Given the description of an element on the screen output the (x, y) to click on. 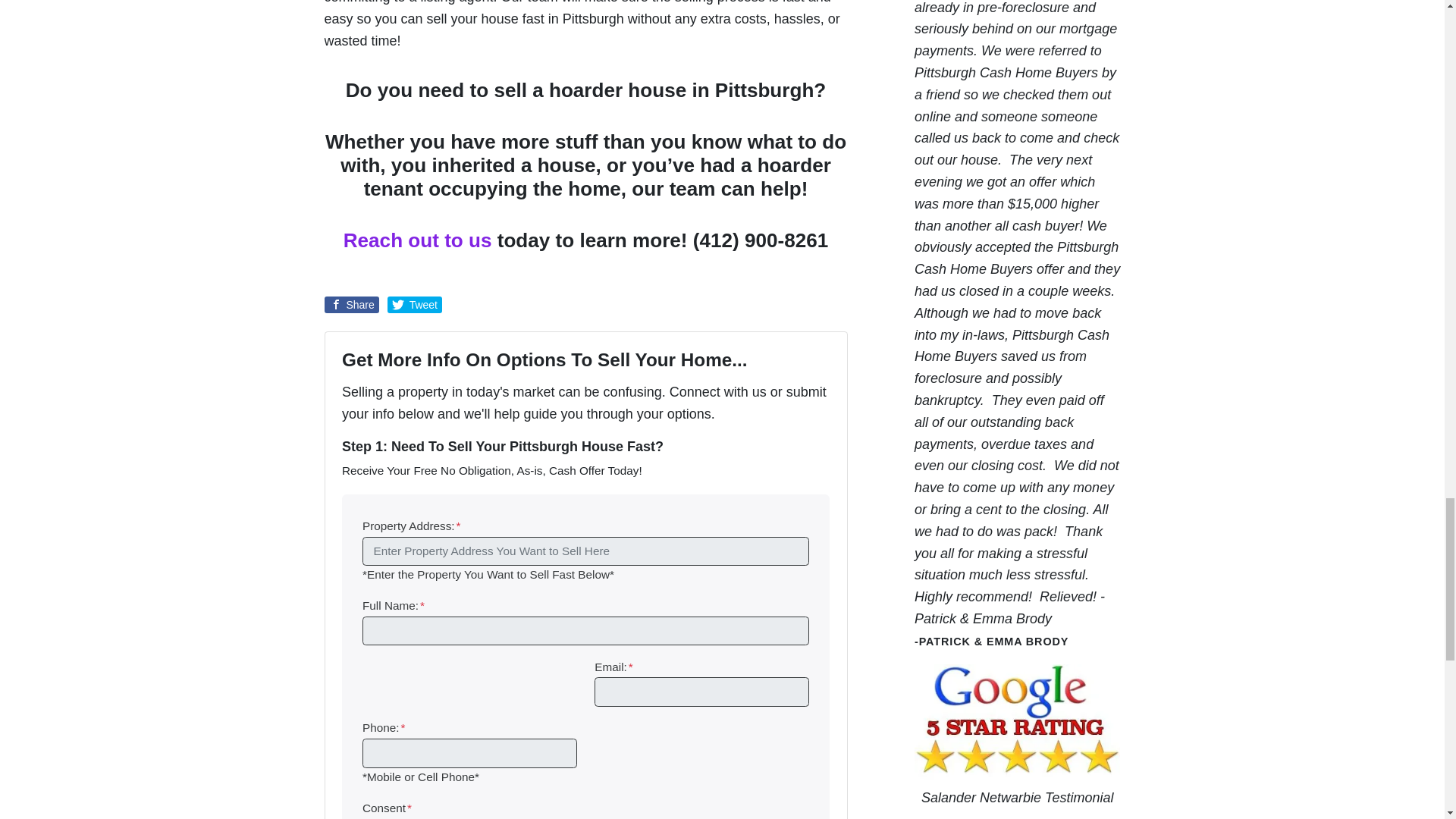
Share on Facebook (351, 304)
Share (351, 304)
Share on Twitter (414, 304)
Tweet (414, 304)
Reach out to us (417, 240)
